Given the description of an element on the screen output the (x, y) to click on. 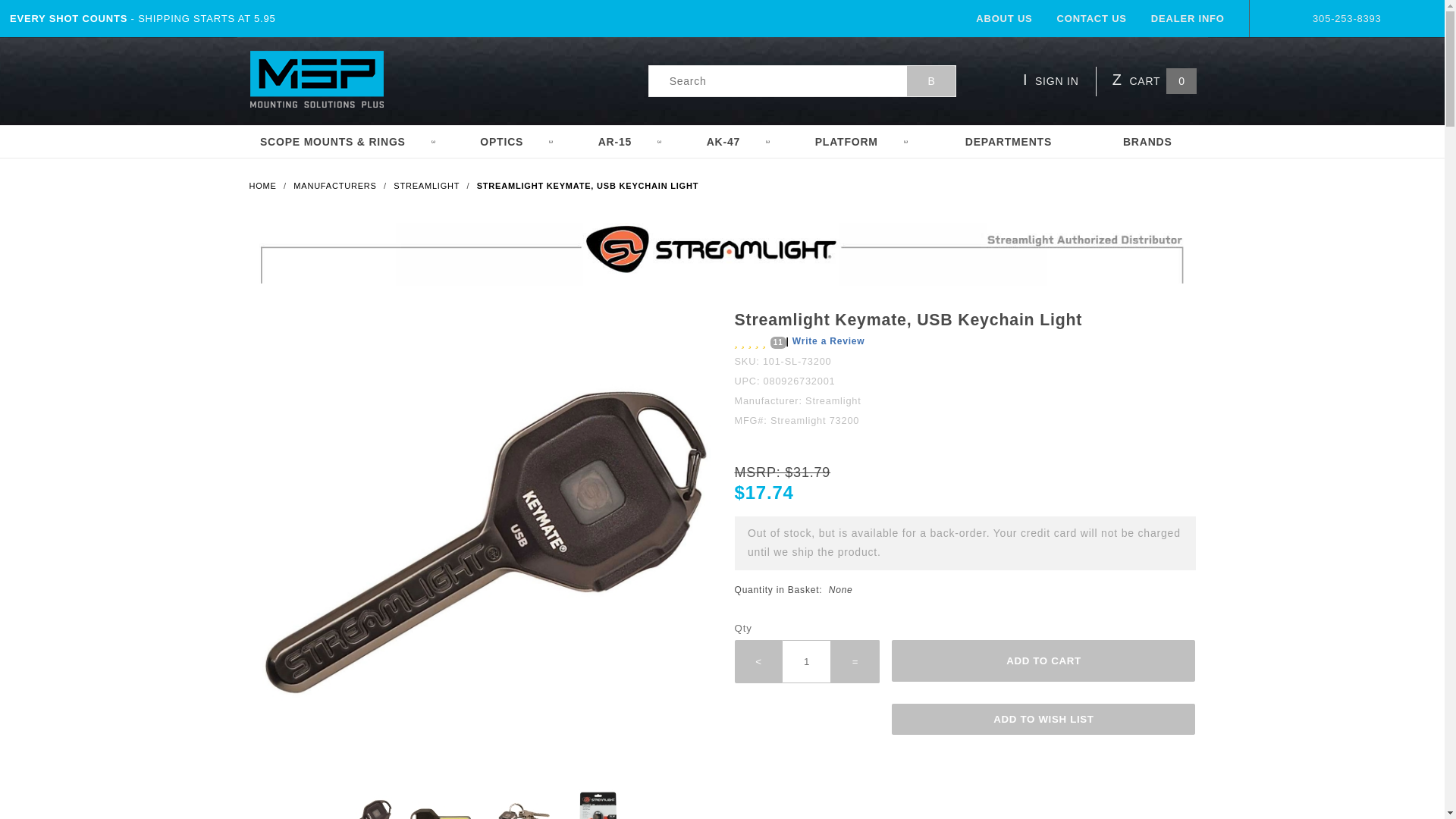
Streamlight Keymate, USB Keychain Light (587, 185)
CONTACT US (1091, 18)
Dealer Info (1187, 18)
Streamlight Keymate, USB Keychain Light (597, 804)
Contact Us (1091, 18)
Streamlight (428, 185)
Add to Wish List (1043, 719)
Sign In (1071, 146)
About Us (1003, 18)
1 (807, 661)
